Given the description of an element on the screen output the (x, y) to click on. 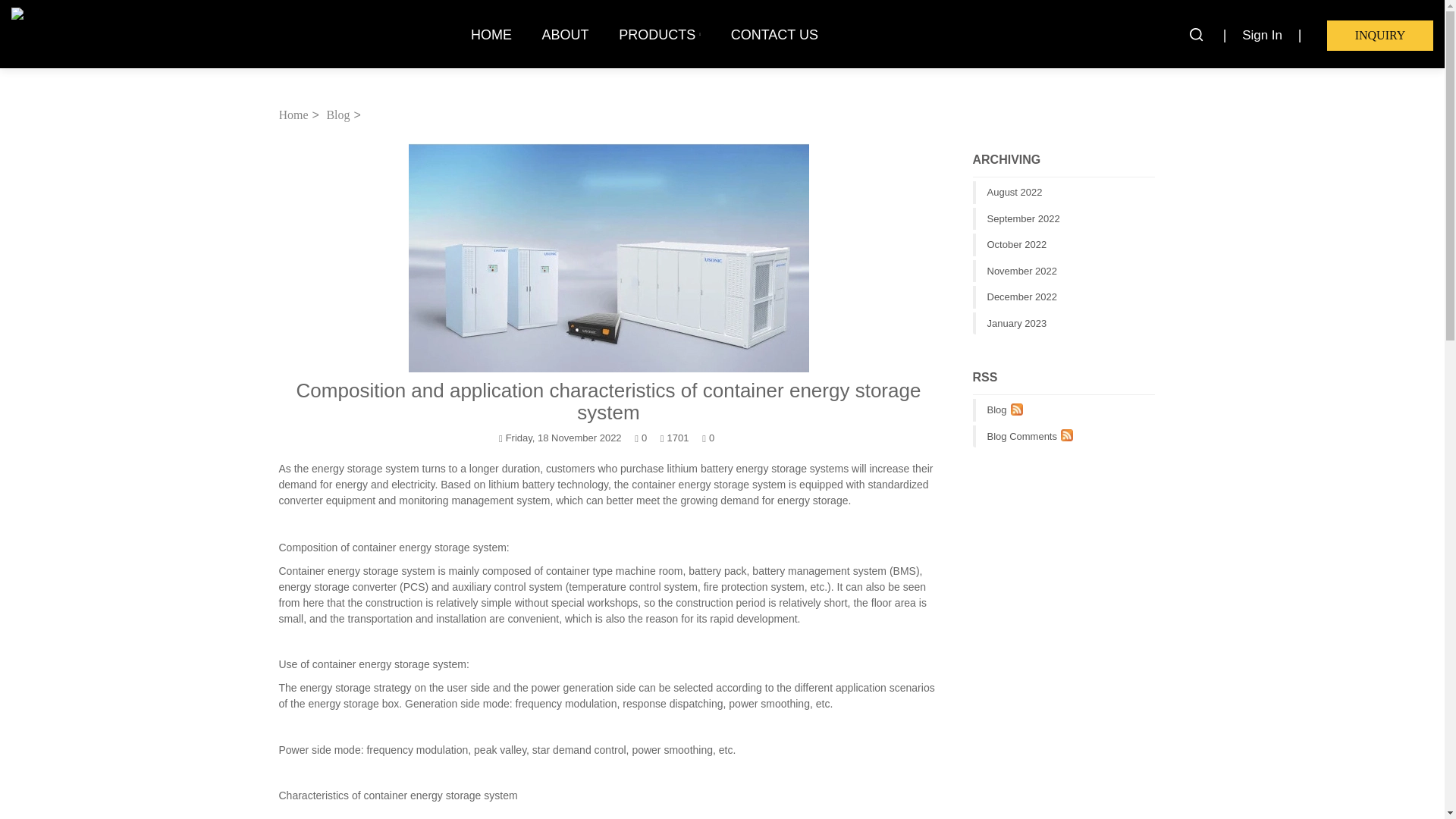
ABOUT (565, 34)
CONTACT US (774, 34)
HOME (491, 34)
PRODUCTS (659, 34)
Cart (1379, 35)
Sign In (1261, 35)
ABOUT (565, 34)
INQUIRY (1379, 35)
HOME (491, 34)
Sign In (1261, 35)
PRODUCTS (659, 34)
CONTACT US (774, 34)
